Given the description of an element on the screen output the (x, y) to click on. 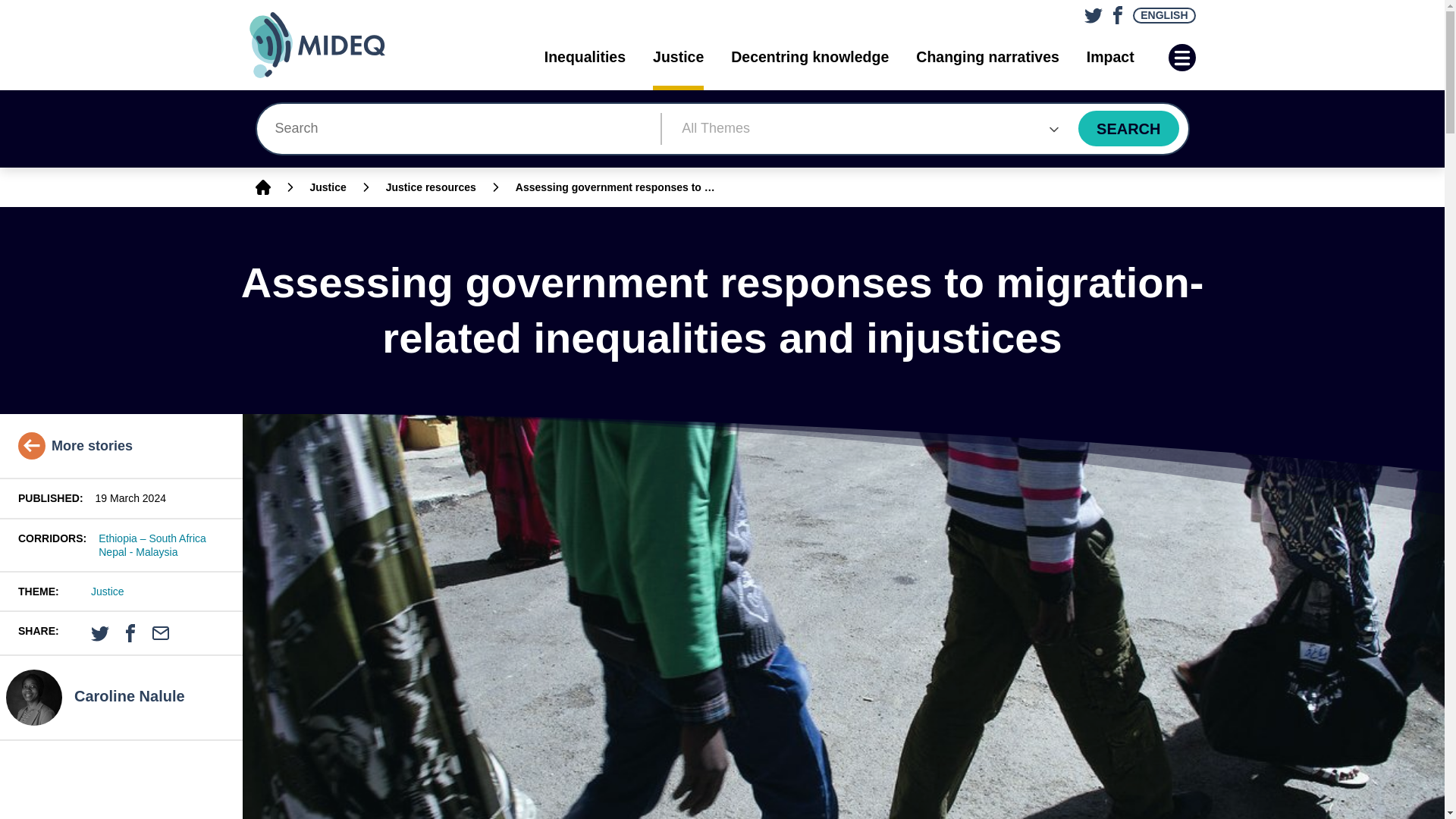
Justice (677, 57)
Inequalities (585, 57)
Home (261, 186)
Impact (1110, 57)
Decentring knowledge (809, 57)
Justice (327, 187)
Twitter (1090, 11)
SEARCH (1127, 128)
